Given the description of an element on the screen output the (x, y) to click on. 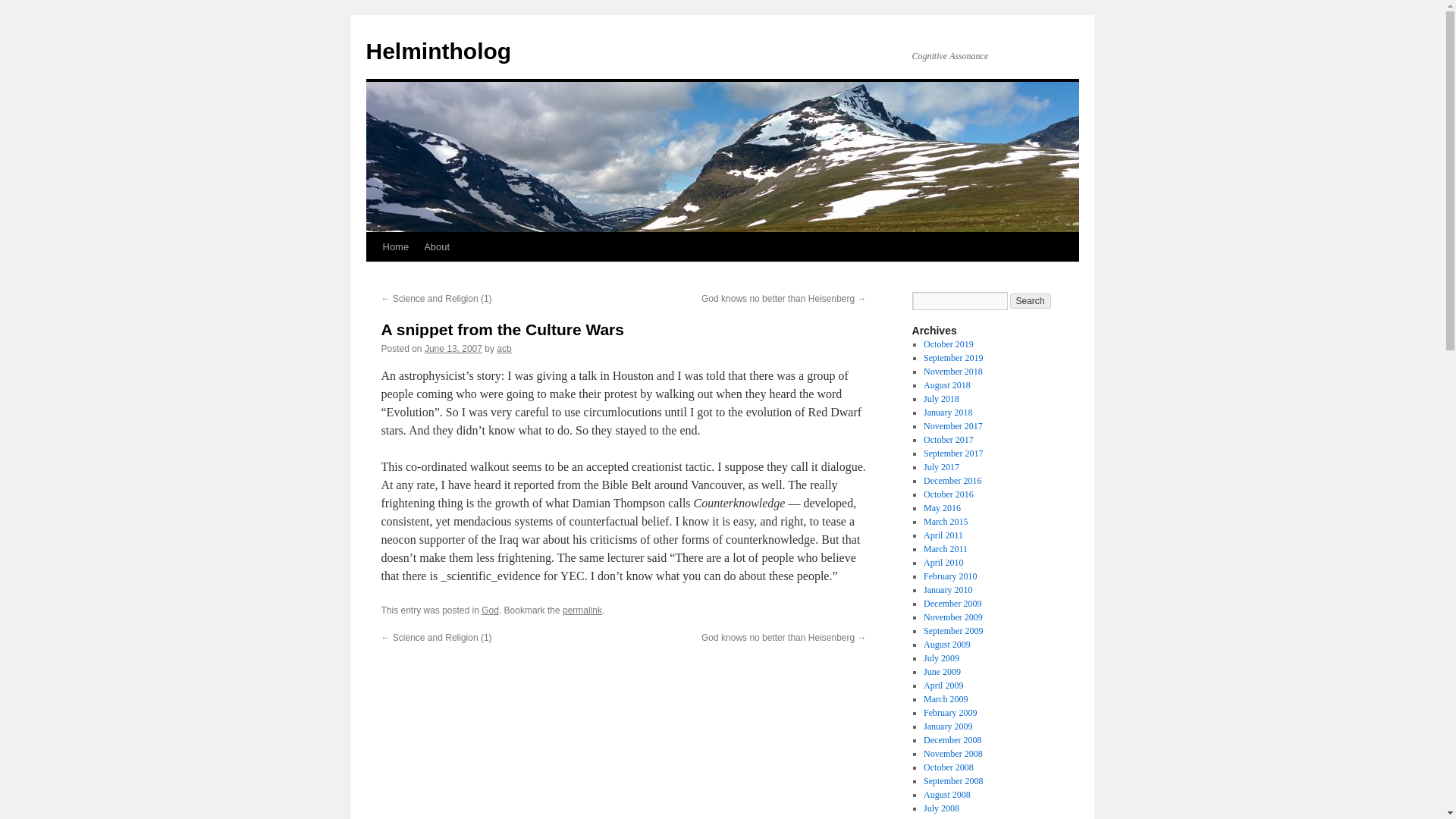
November 2009 (952, 616)
9:21 am (453, 348)
August 2009 (947, 644)
May 2016 (941, 507)
September 2019 (952, 357)
permalink (582, 610)
About (436, 246)
December 2016 (952, 480)
September 2017 (952, 452)
View all posts by acb (503, 348)
July 2009 (941, 657)
July 2017 (941, 466)
August 2018 (947, 385)
Permalink to A snippet from the Culture Wars (582, 610)
January 2010 (947, 589)
